Given the description of an element on the screen output the (x, y) to click on. 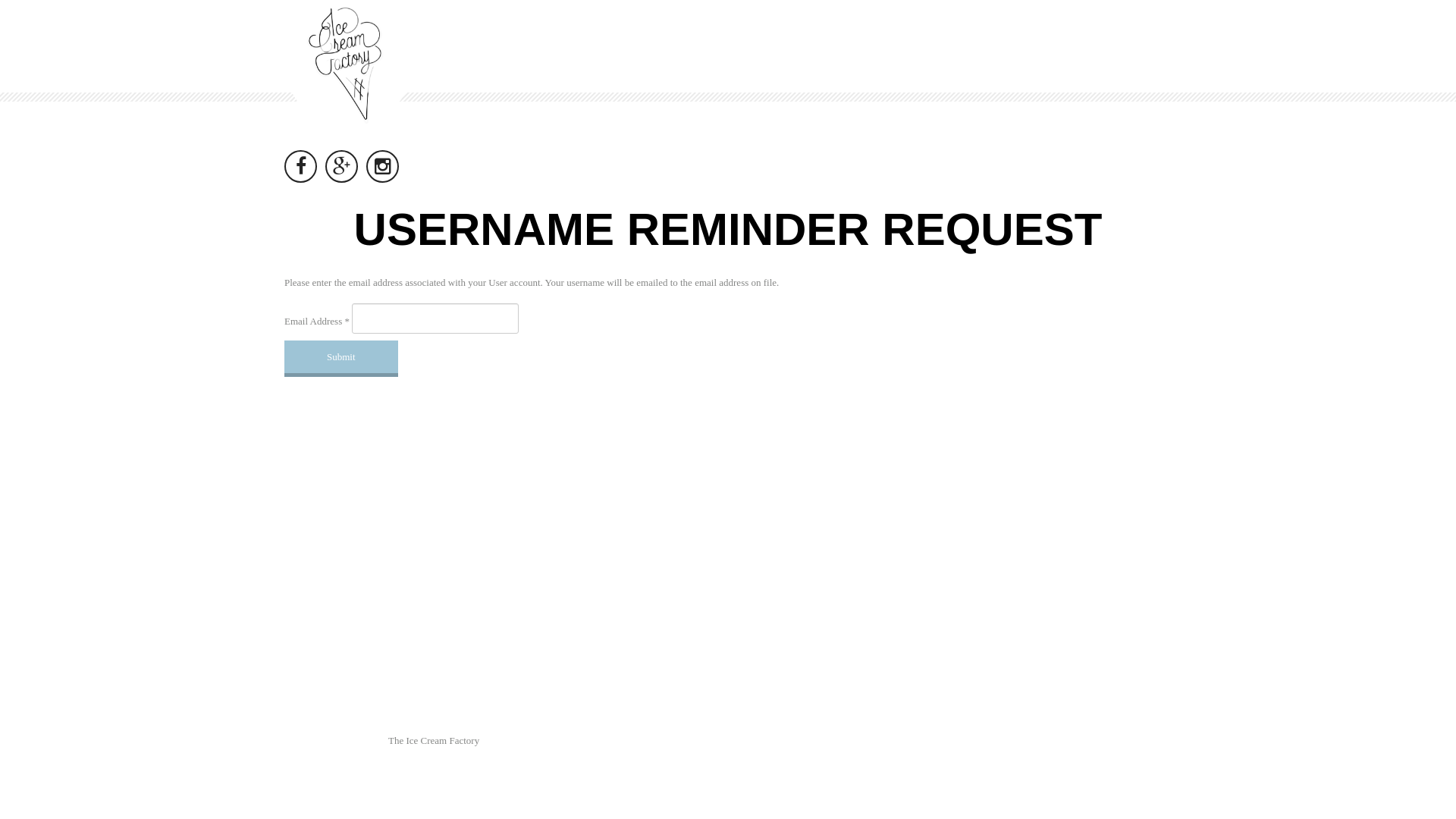
Submit Element type: text (341, 358)
